Given the description of an element on the screen output the (x, y) to click on. 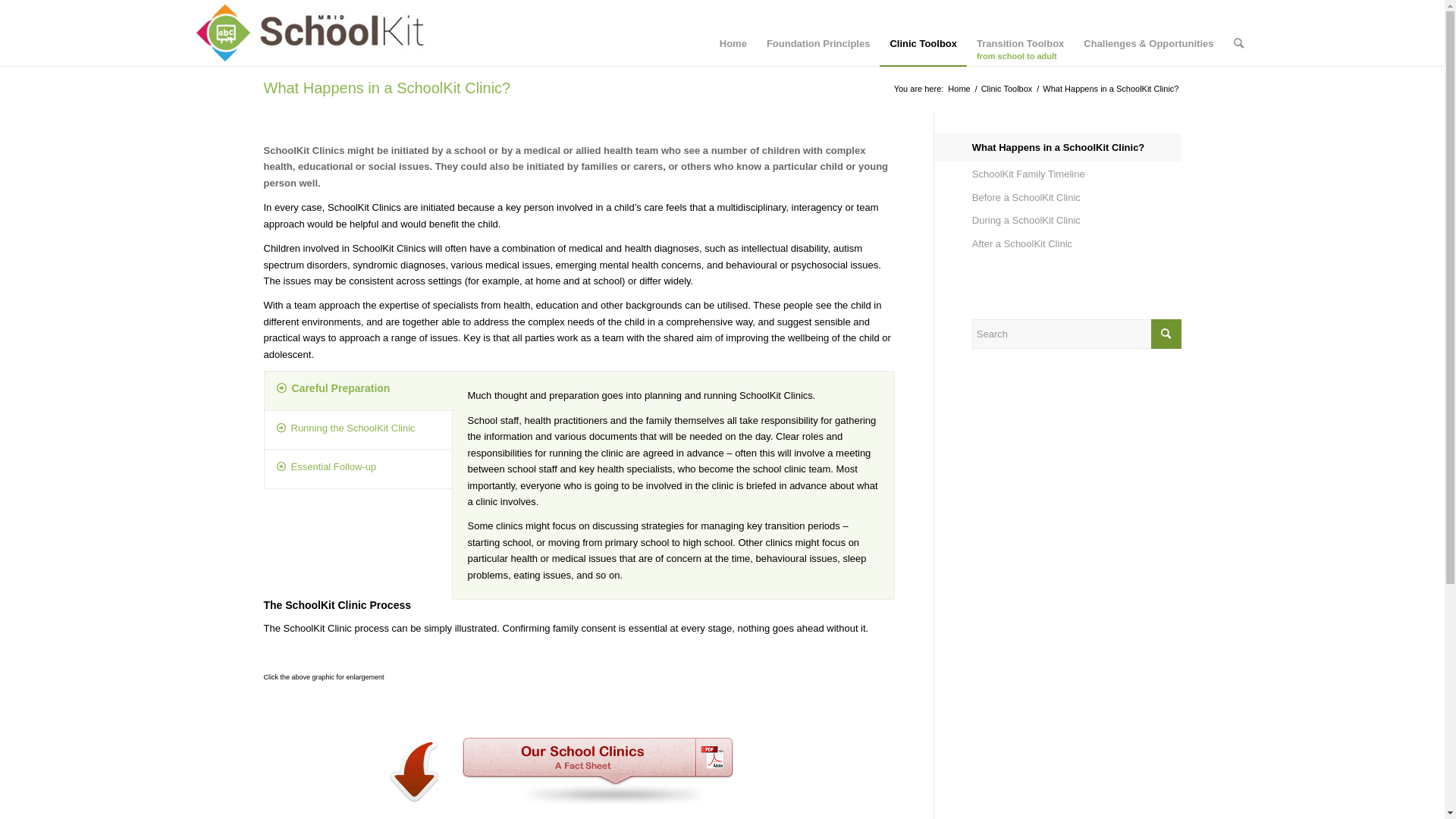
SchoolKit Family Timeline Element type: text (1076, 174)
What Happens in a SchoolKit Clinic? Element type: text (1076, 147)
Clinic Toolbox Element type: text (1007, 88)
schoolkit-logo-final Element type: hover (310, 32)
What Happens in a SchoolKit Clinic? Element type: text (387, 87)
Challenges & Opportunities Element type: text (1148, 32)
Before a SchoolKit Clinic Element type: text (1076, 197)
Home Element type: text (958, 88)
Foundation Principles Element type: text (818, 32)
During a SchoolKit Clinic Element type: text (1076, 220)
Clinic Toolbox Element type: text (922, 32)
Transition Toolbox
from school to adult Element type: text (1019, 32)
Home Element type: text (732, 32)
After a SchoolKit Clinic Element type: text (1076, 243)
